Given the description of an element on the screen output the (x, y) to click on. 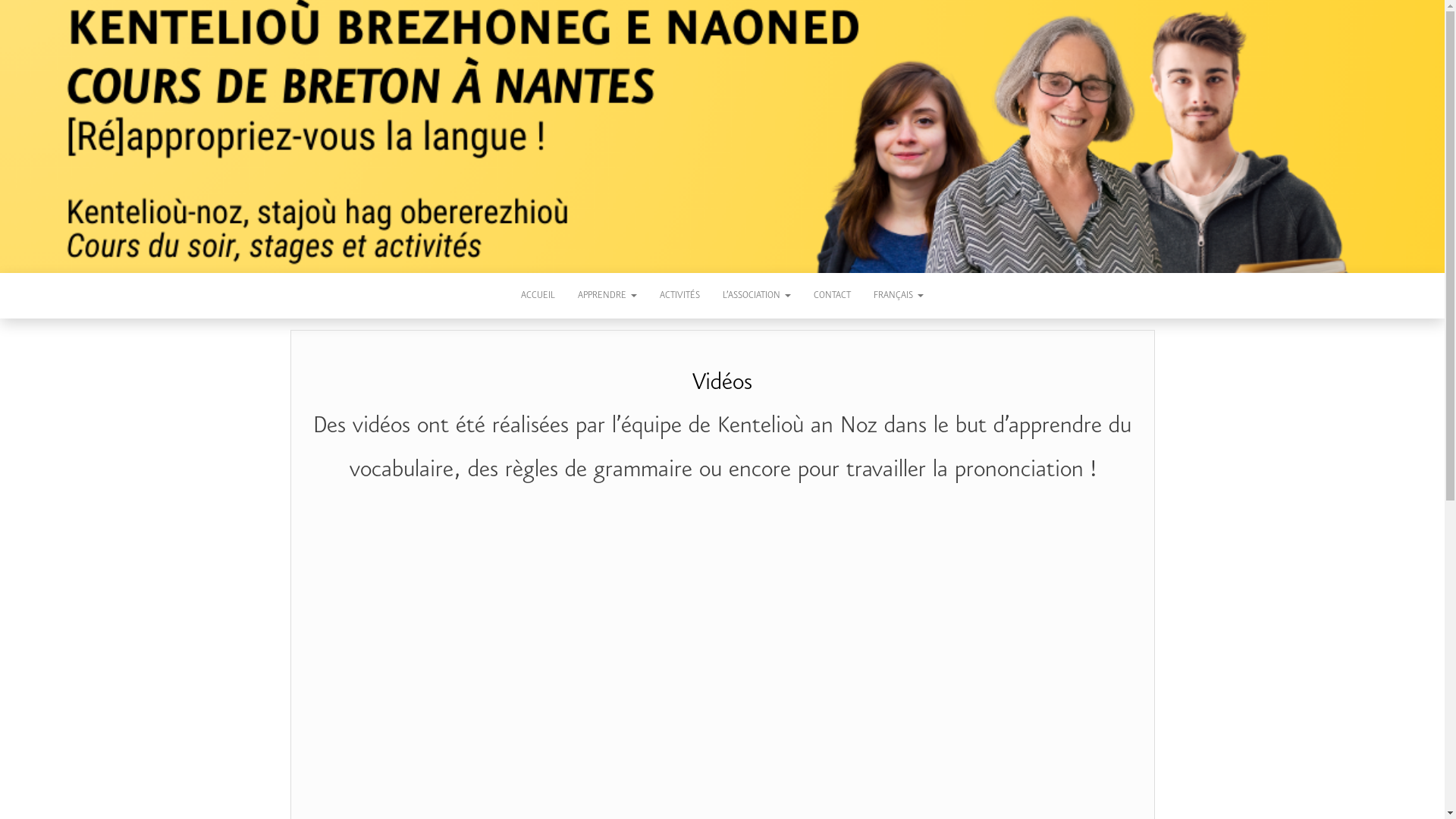
CONTACT Element type: text (832, 295)
ACCUEIL Element type: text (537, 295)
APPRENDRE Element type: text (607, 295)
